Given the description of an element on the screen output the (x, y) to click on. 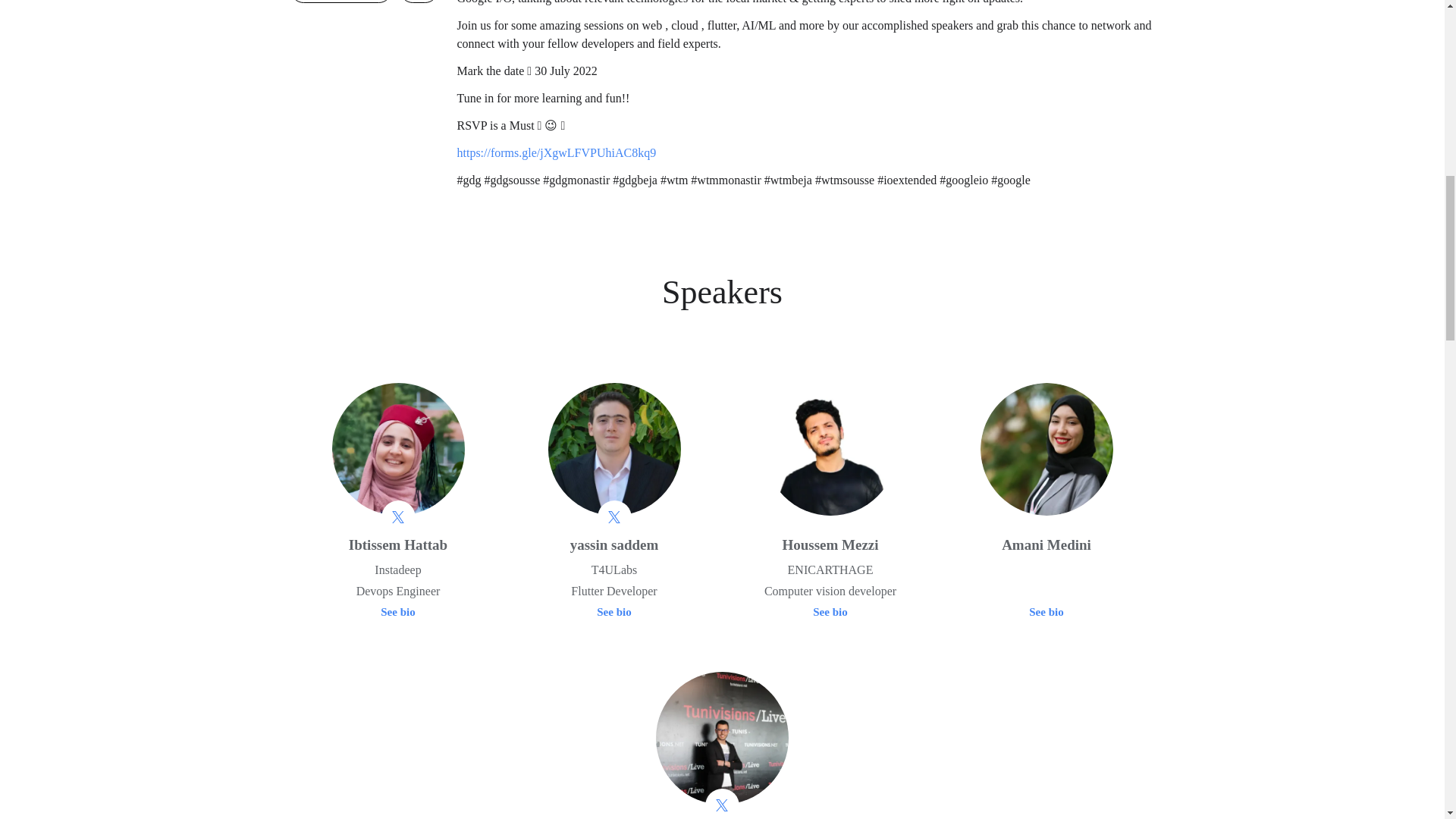
See bio (829, 612)
See bio (397, 612)
See bio (1045, 612)
Web (418, 1)
Machine Learning (340, 1)
See bio (613, 612)
